Given the description of an element on the screen output the (x, y) to click on. 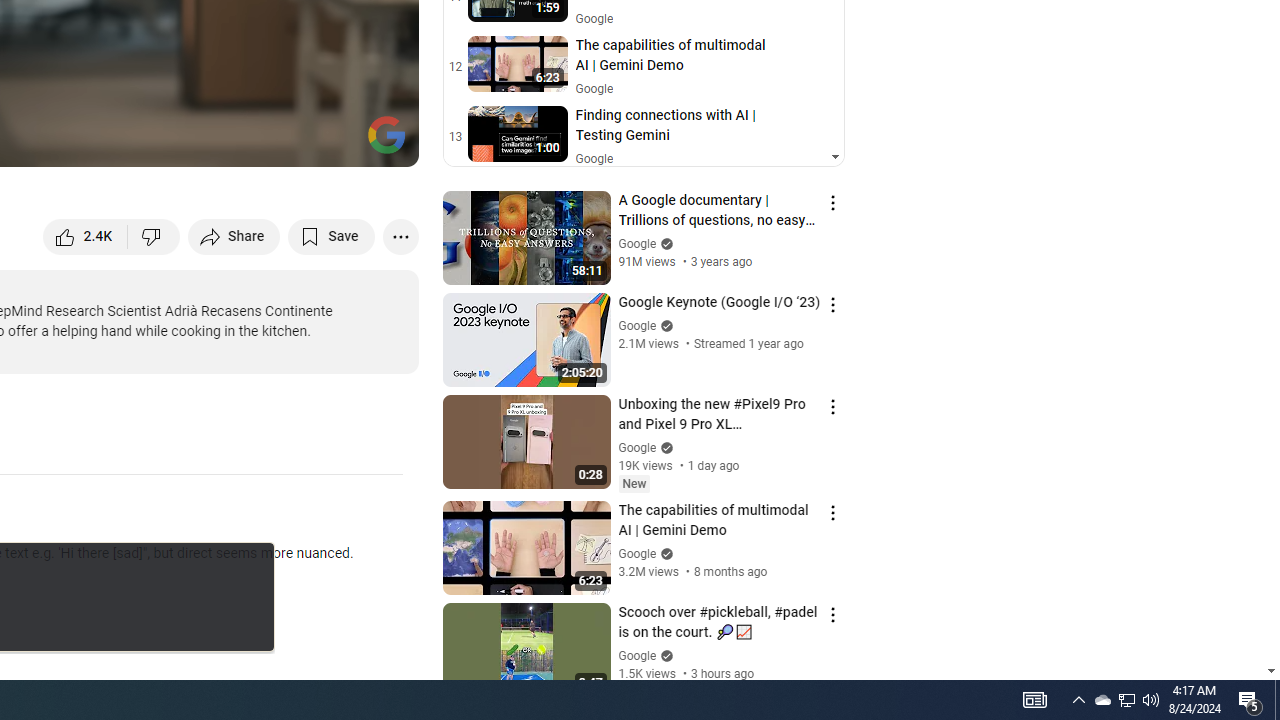
Verified (664, 655)
More actions (399, 236)
Subtitles/closed captions unavailable (190, 142)
Full screen (f) (382, 142)
like this video along with 2,460 other people (86, 236)
Channel watermark (386, 134)
